Given the description of an element on the screen output the (x, y) to click on. 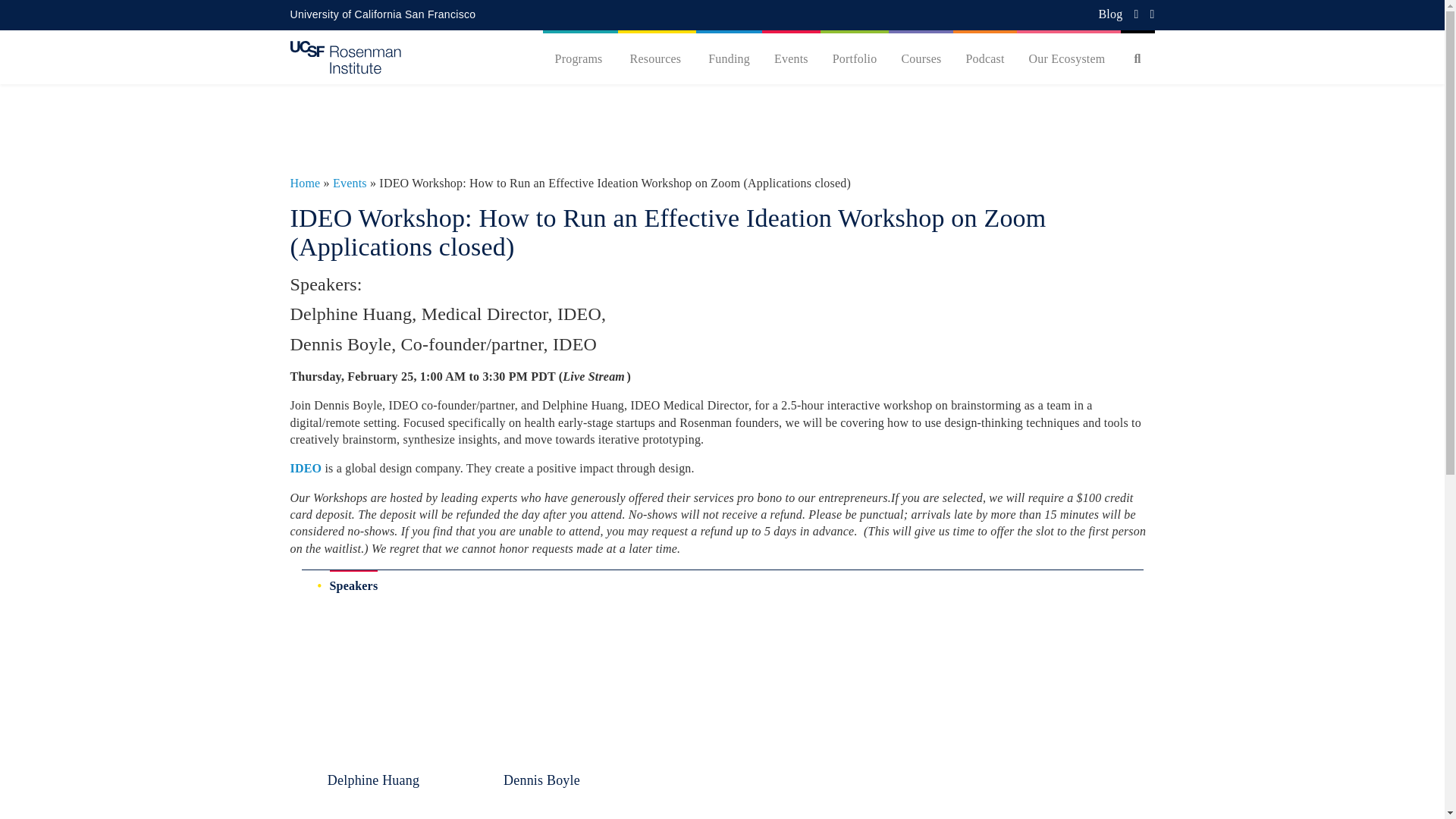
UCSF Rosenman Institute (344, 56)
Funding (728, 58)
IDEO (305, 468)
Home (304, 182)
Resources (657, 58)
Programs (580, 58)
Events (349, 182)
Podcast (984, 58)
Events (791, 58)
Speakers (353, 584)
